Given the description of an element on the screen output the (x, y) to click on. 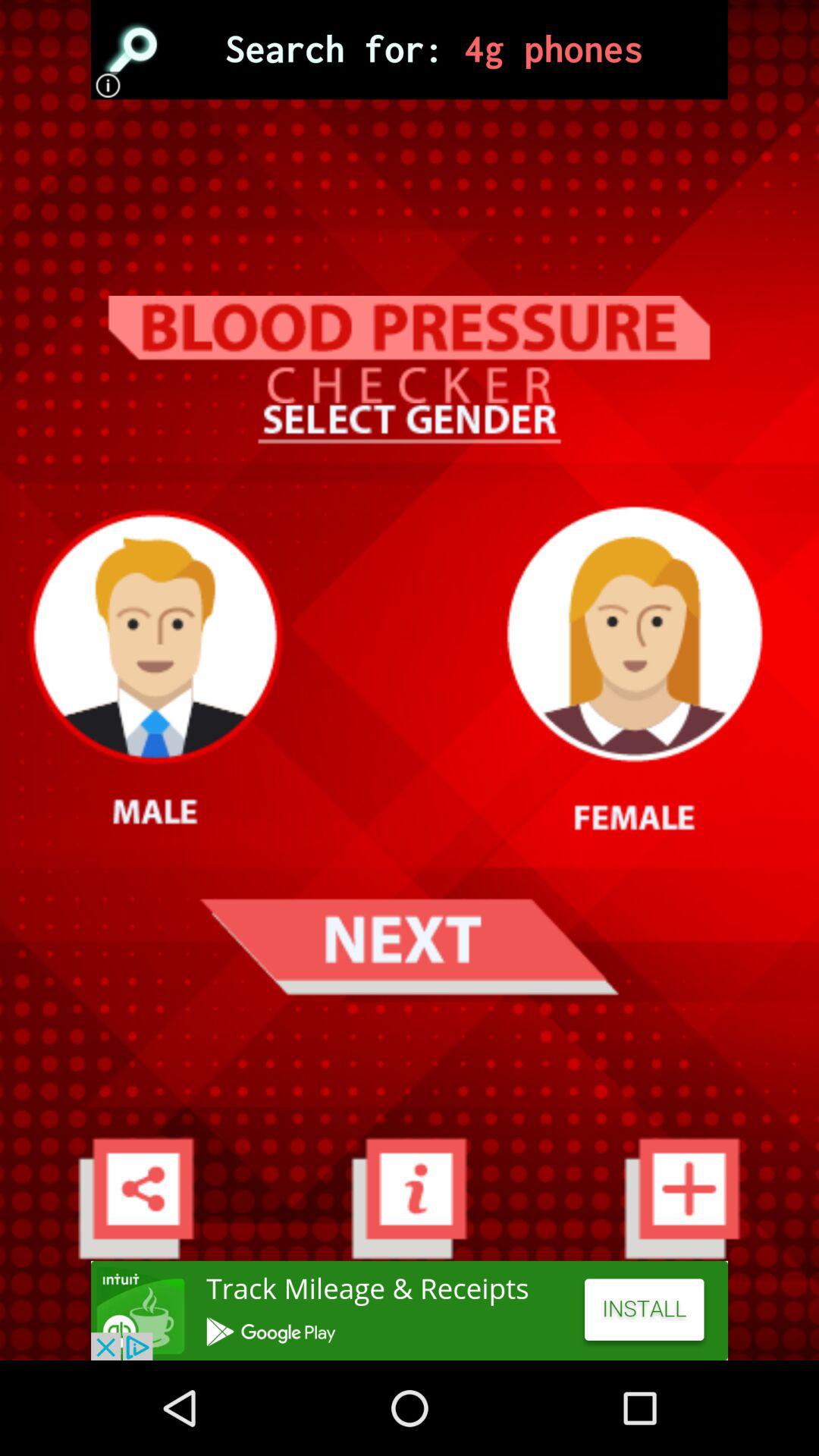
next (409, 946)
